Given the description of an element on the screen output the (x, y) to click on. 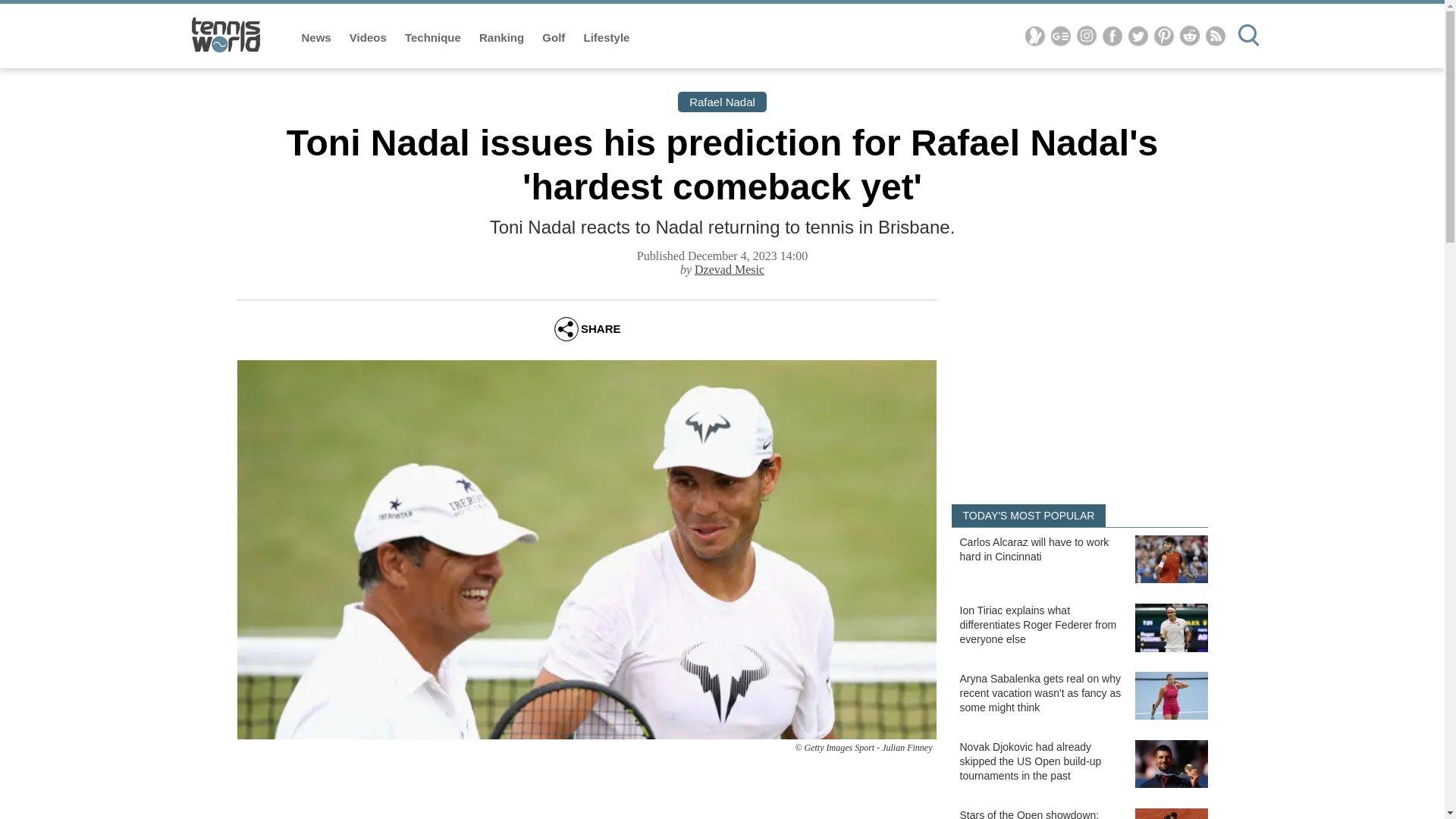
Lifestyle (606, 37)
Videos (369, 37)
News (317, 37)
Technique (434, 37)
Golf (554, 37)
Ranking (503, 37)
